Given the description of an element on the screen output the (x, y) to click on. 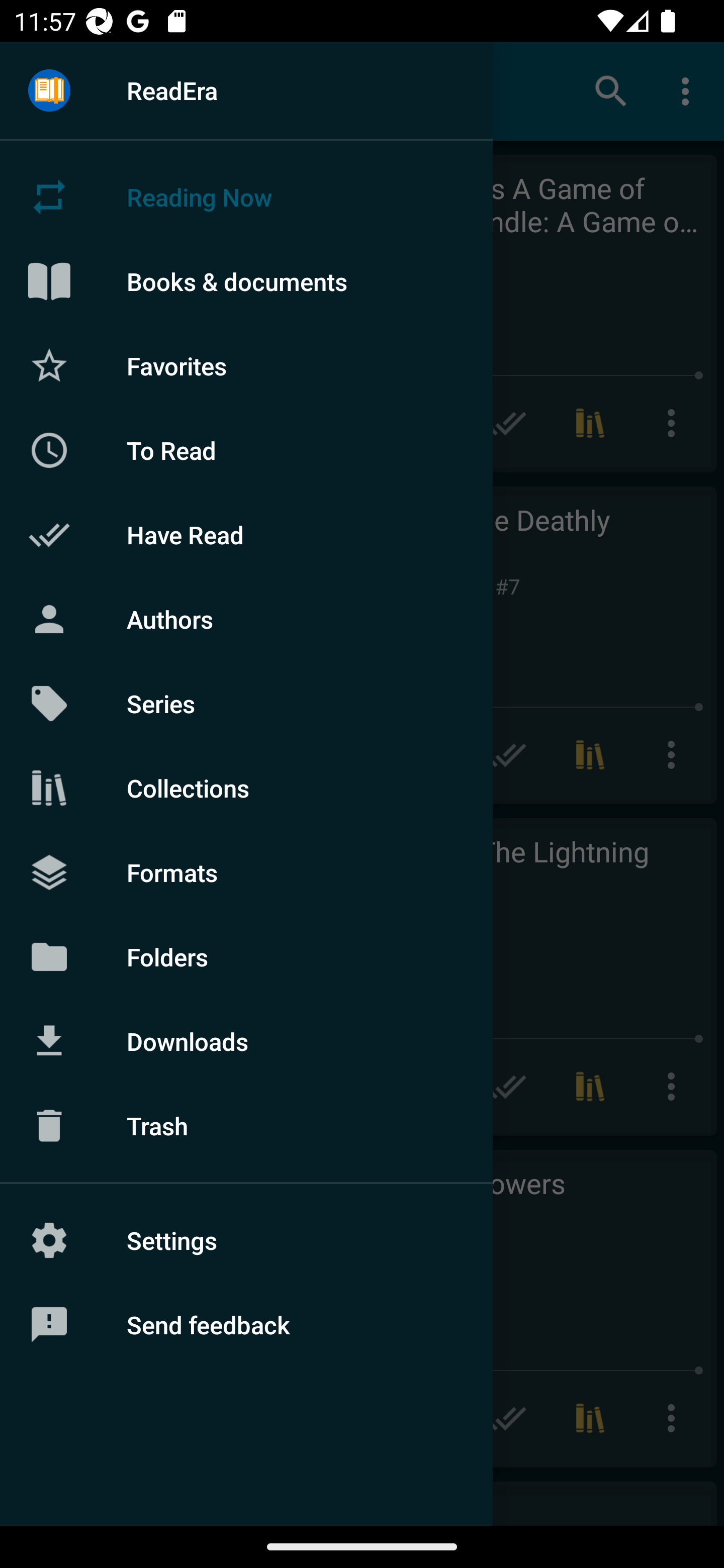
Menu (49, 91)
ReadEra (246, 89)
Search books & documents (611, 90)
More options (688, 90)
Reading Now (246, 197)
Books & documents (246, 281)
Favorites (246, 365)
To Read (246, 449)
Have Read (246, 534)
Authors (246, 619)
Series (246, 703)
Collections (246, 787)
Formats (246, 871)
Folders (246, 956)
Downloads (246, 1040)
Trash (246, 1125)
Settings (246, 1239)
Send feedback (246, 1324)
